Given the description of an element on the screen output the (x, y) to click on. 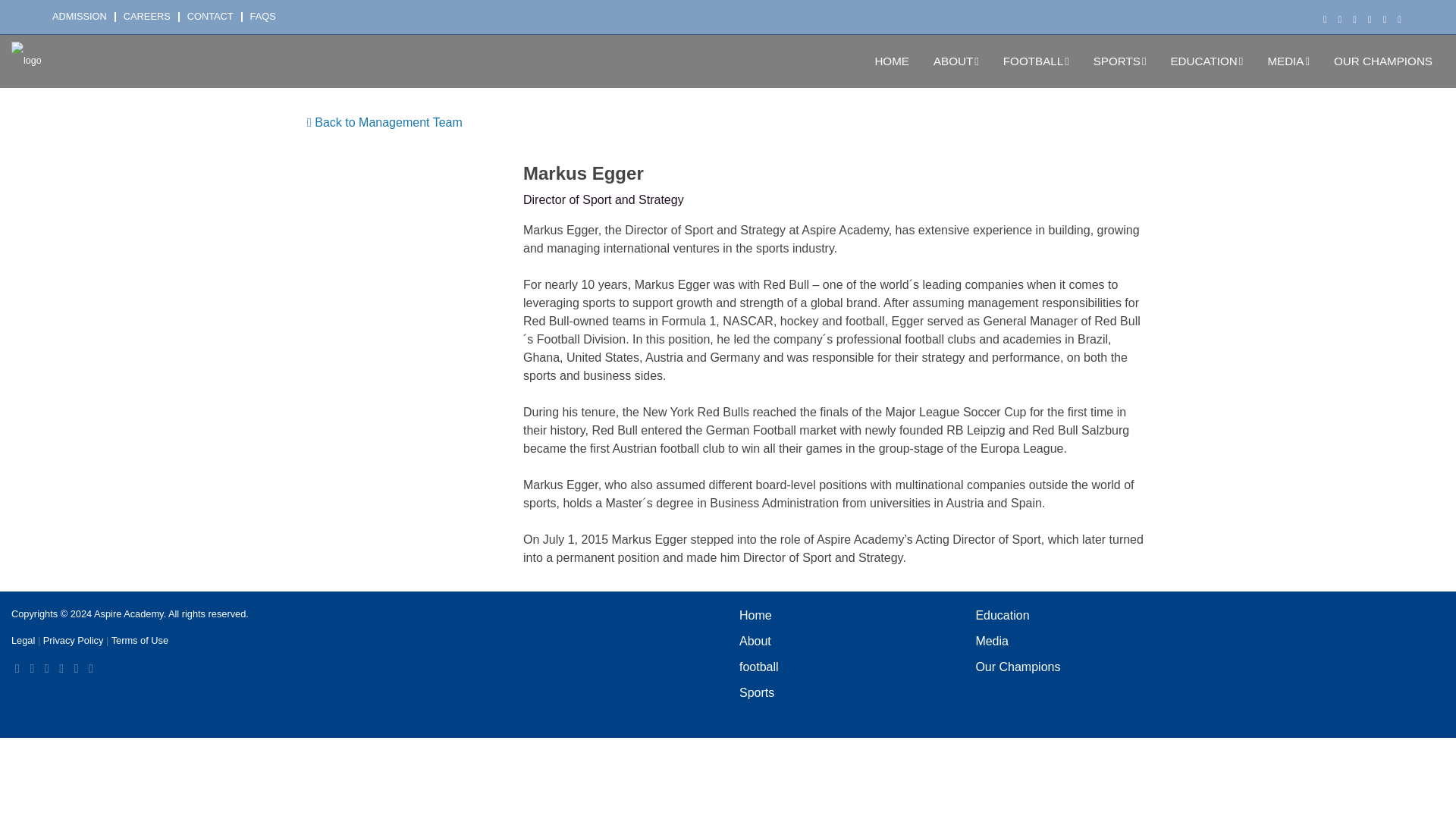
FAQS (266, 17)
CAREERS (151, 17)
HOME (891, 60)
CONTACT (215, 17)
ABOUT (956, 60)
FOOTBALL (1036, 60)
SPORTS (1119, 60)
ADMISSION (84, 17)
EDUCATION (1206, 60)
